Given the description of an element on the screen output the (x, y) to click on. 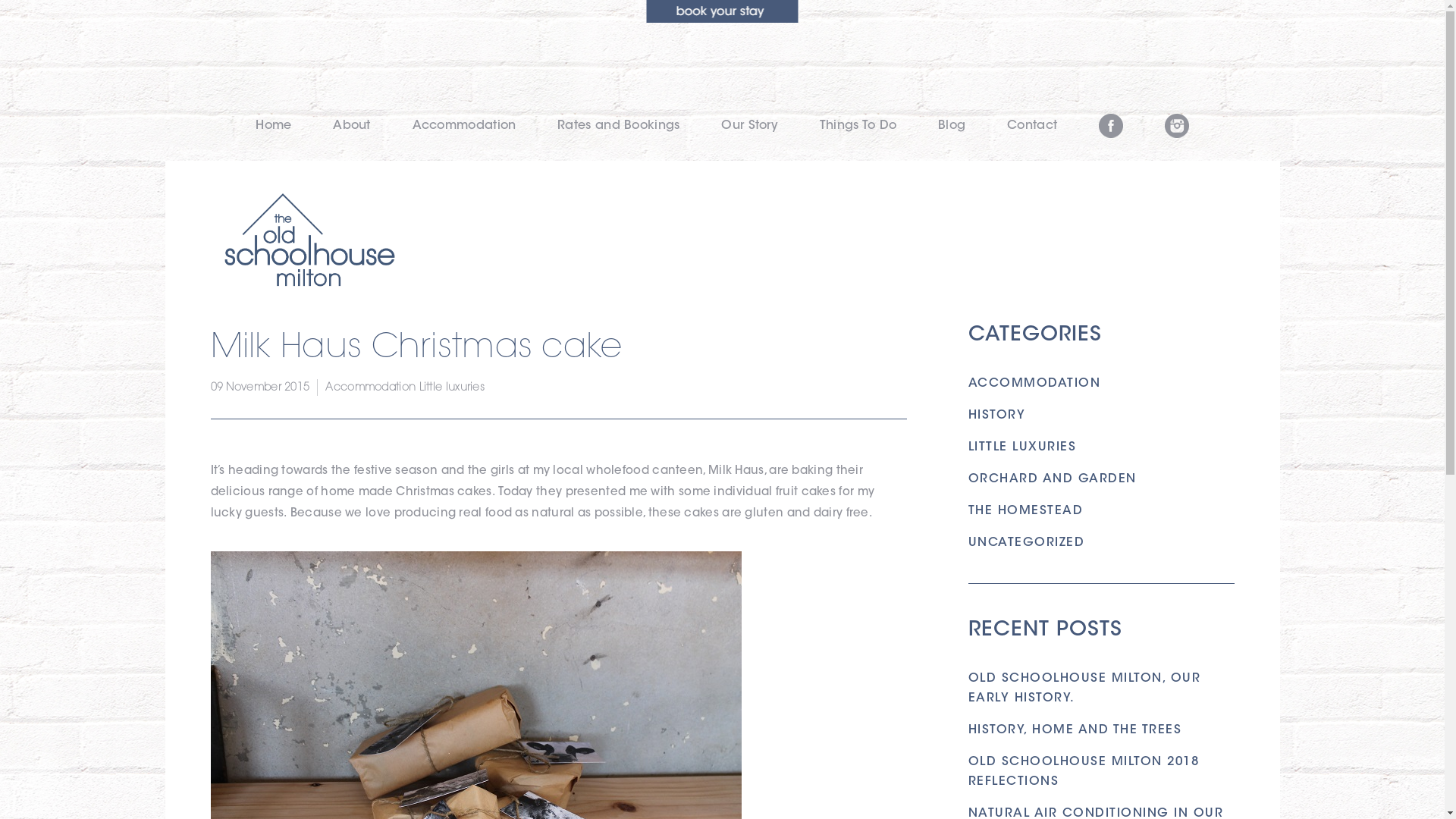
Blog Element type: text (951, 126)
OLD SCHOOLHOUSE MILTON, OUR EARLY HISTORY. Element type: text (1083, 688)
Our Story Element type: text (749, 126)
Little luxuries Element type: text (452, 387)
HISTORY, HOME AND THE TREES Element type: text (1074, 730)
Contact Element type: text (1032, 126)
Things To Do Element type: text (858, 126)
HISTORY Element type: text (996, 415)
OLD SCHOOLHOUSE MILTON 2018 REFLECTIONS Element type: text (1082, 771)
UNCATEGORIZED Element type: text (1025, 542)
Home Element type: text (273, 126)
ACCOMMODATION Element type: text (1033, 383)
Accommodation Element type: text (370, 387)
LITTLE LUXURIES Element type: text (1021, 447)
Accommodation Element type: text (463, 126)
About Element type: text (351, 126)
THE HOMESTEAD Element type: text (1024, 511)
ORCHARD AND GARDEN Element type: text (1051, 479)
Rates and Bookings Element type: text (618, 126)
